Given the description of an element on the screen output the (x, y) to click on. 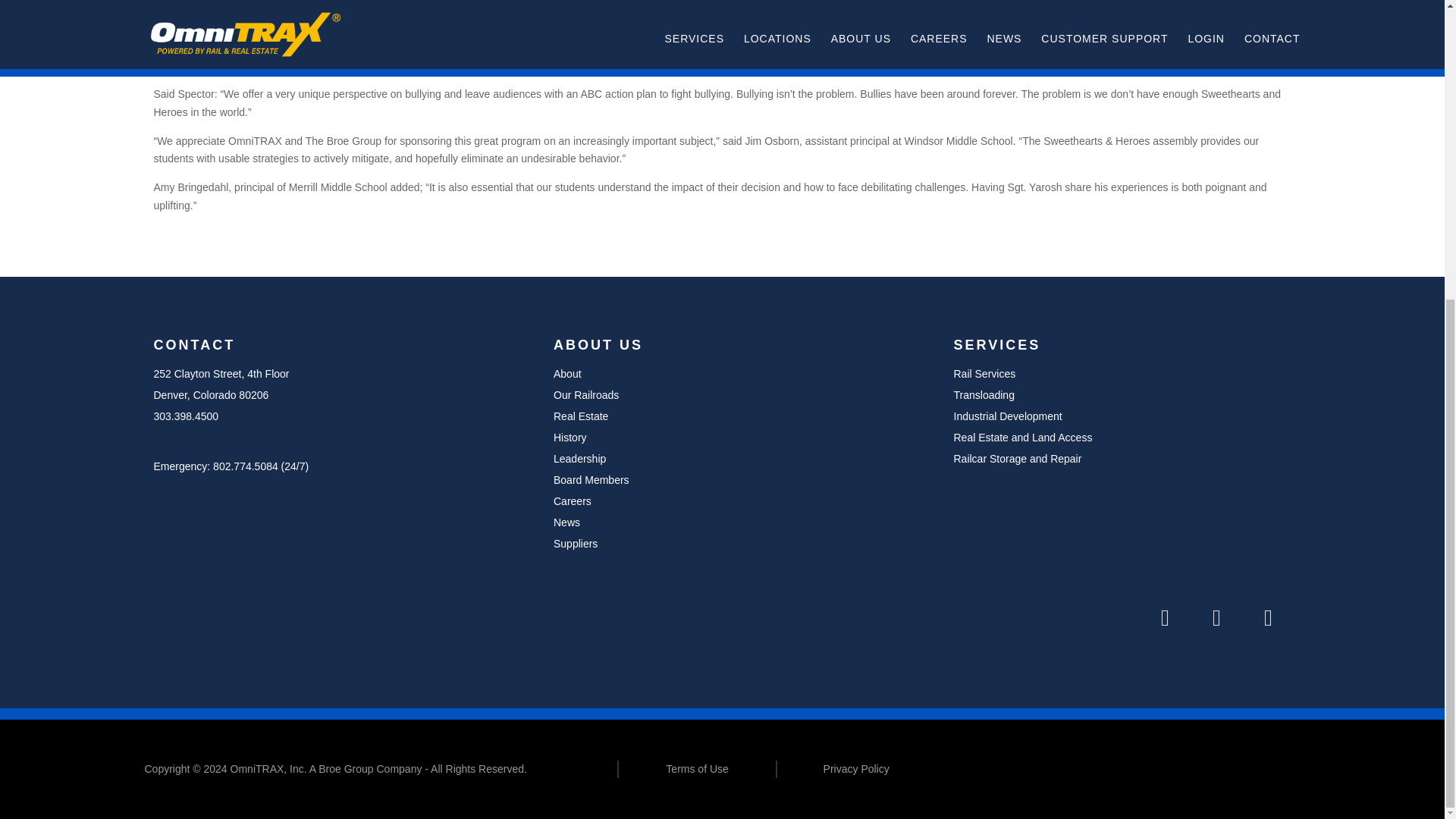
Follow on Youtube (1267, 617)
Follow on Facebook (1216, 617)
Follow on LinkedIn (1164, 617)
